Given the description of an element on the screen output the (x, y) to click on. 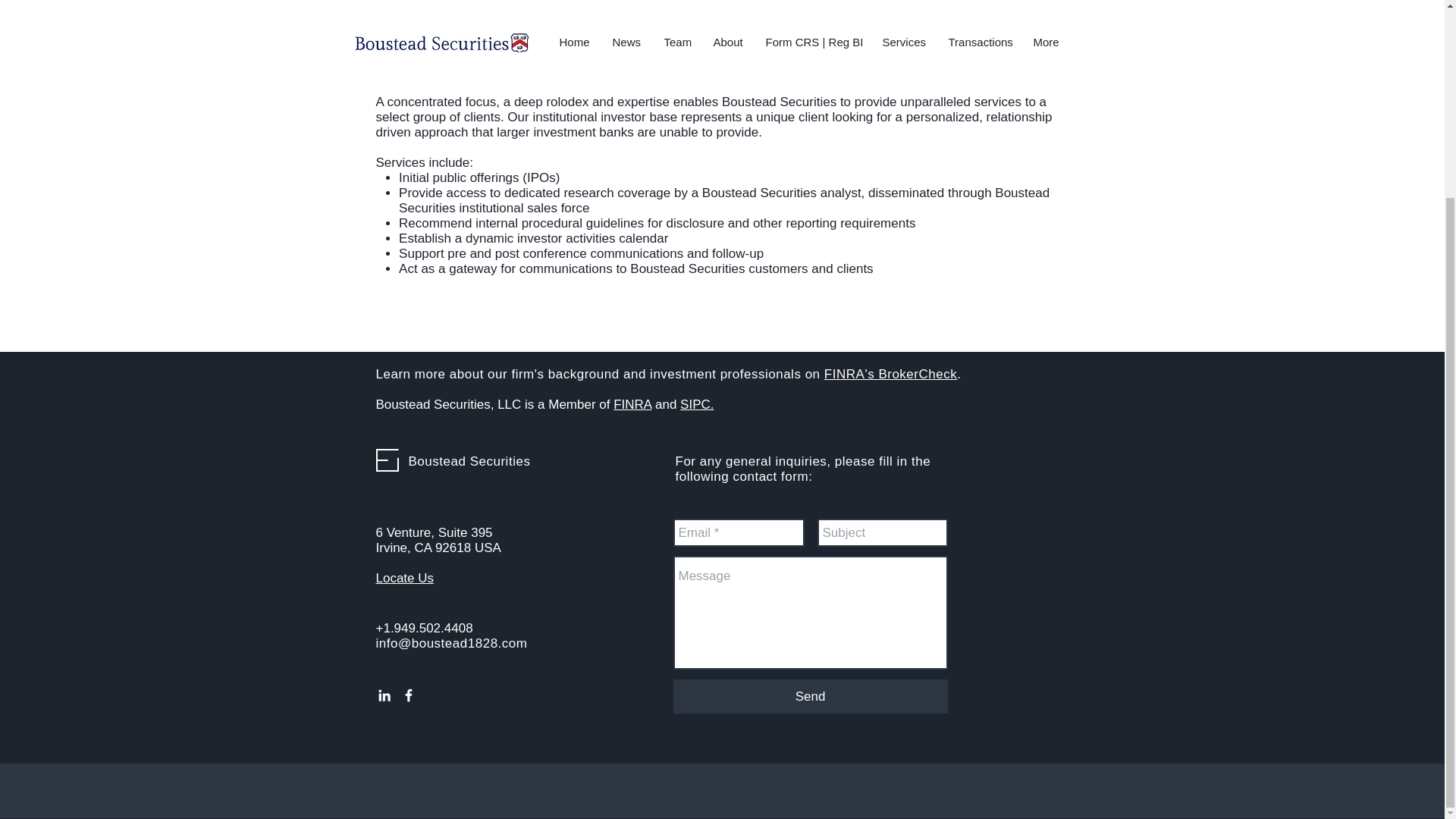
Send (809, 696)
SIPC. (696, 404)
Boustead Securities (468, 461)
FINRA's BrokerCheck (890, 373)
Locate Us (404, 577)
FINRA (631, 404)
